Given the description of an element on the screen output the (x, y) to click on. 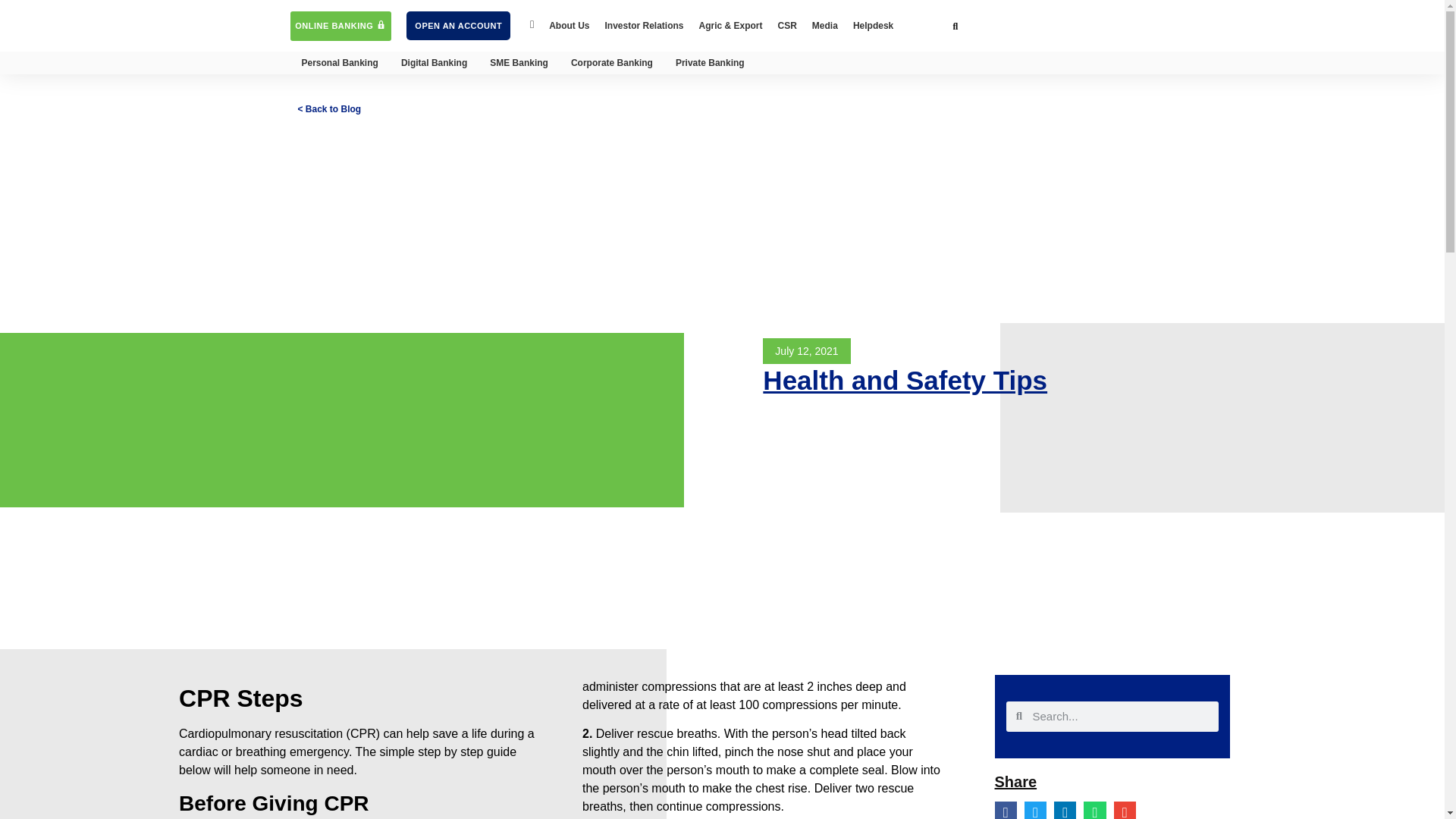
CSR (787, 25)
OPEN AN ACCOUNT (458, 25)
About Us (568, 25)
ONLINE BANKING (340, 25)
Helpdesk (873, 25)
Investor Relations (643, 25)
Media (825, 25)
Home (531, 25)
